Given the description of an element on the screen output the (x, y) to click on. 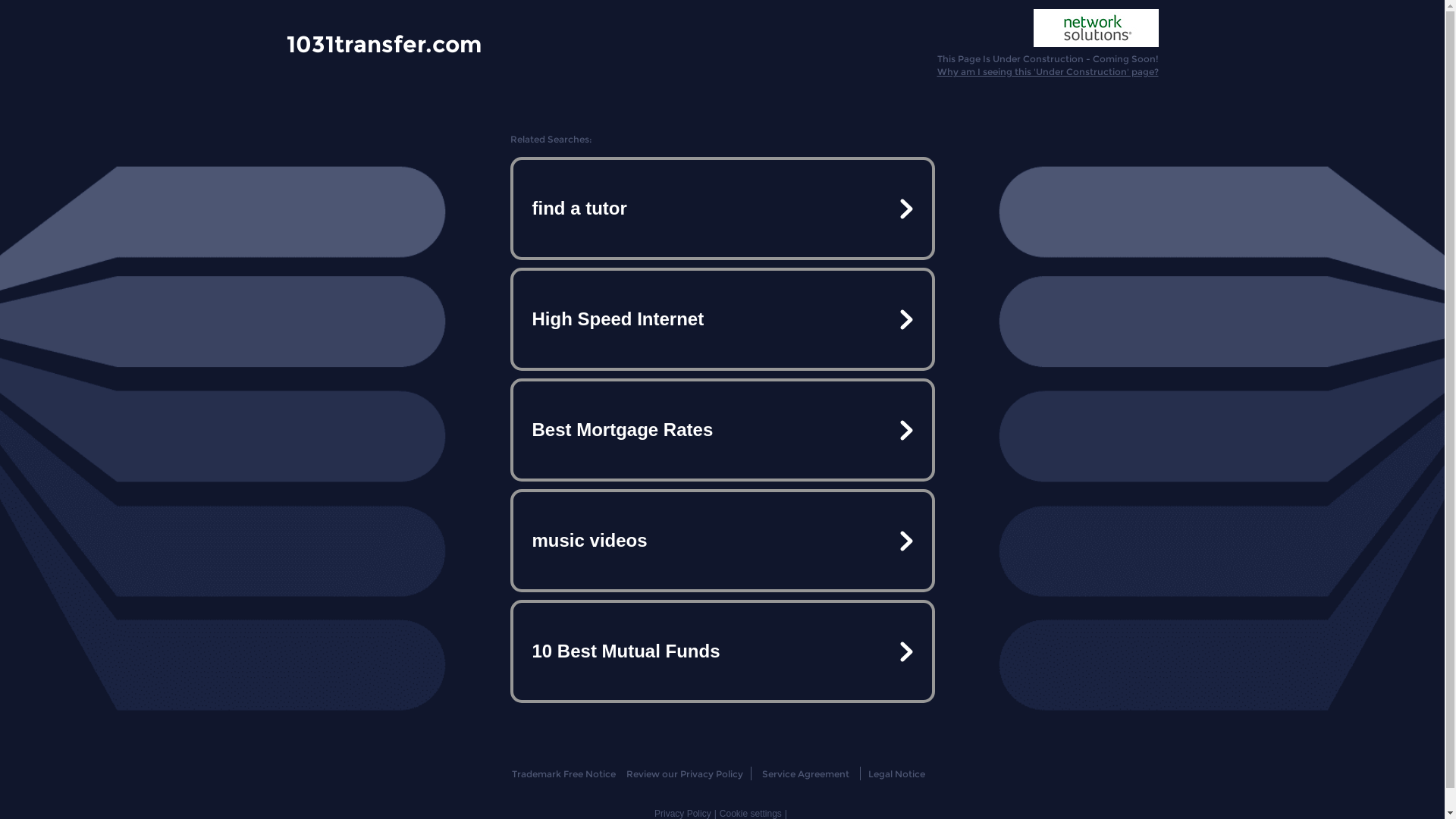
Service Agreement Element type: text (805, 773)
High Speed Internet Element type: text (721, 318)
Why am I seeing this 'Under Construction' page? Element type: text (1047, 71)
music videos Element type: text (721, 540)
Review our Privacy Policy Element type: text (684, 773)
Legal Notice Element type: text (896, 773)
Trademark Free Notice Element type: text (563, 773)
10 Best Mutual Funds Element type: text (721, 650)
Best Mortgage Rates Element type: text (721, 429)
1031transfer.com Element type: text (383, 43)
find a tutor Element type: text (721, 208)
